Given the description of an element on the screen output the (x, y) to click on. 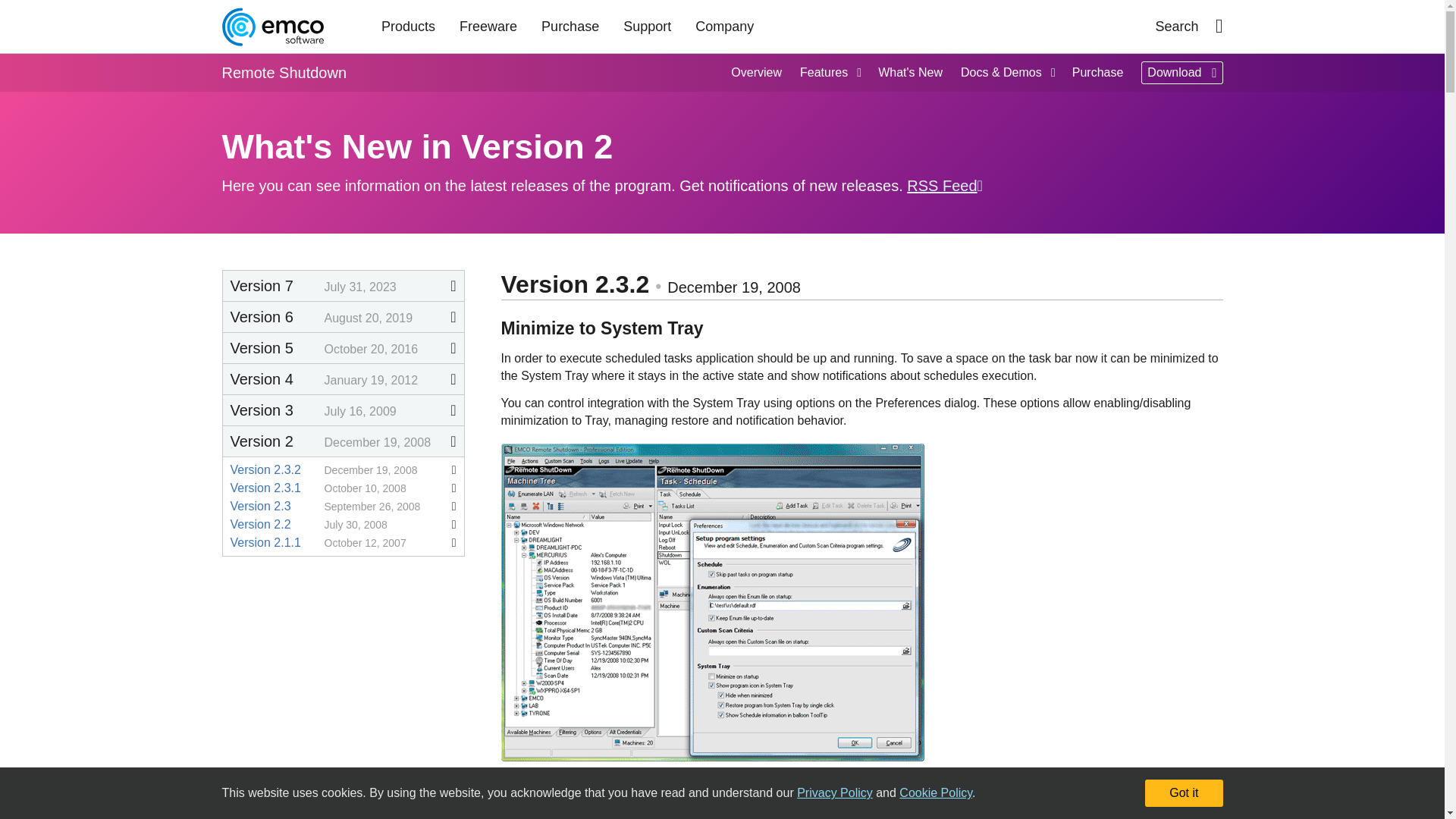
Freeware (487, 26)
Purchase (570, 26)
Support (646, 26)
Features (829, 72)
Products (407, 26)
Company (723, 26)
Overview (756, 72)
Remote Shutdown (283, 72)
